Given the description of an element on the screen output the (x, y) to click on. 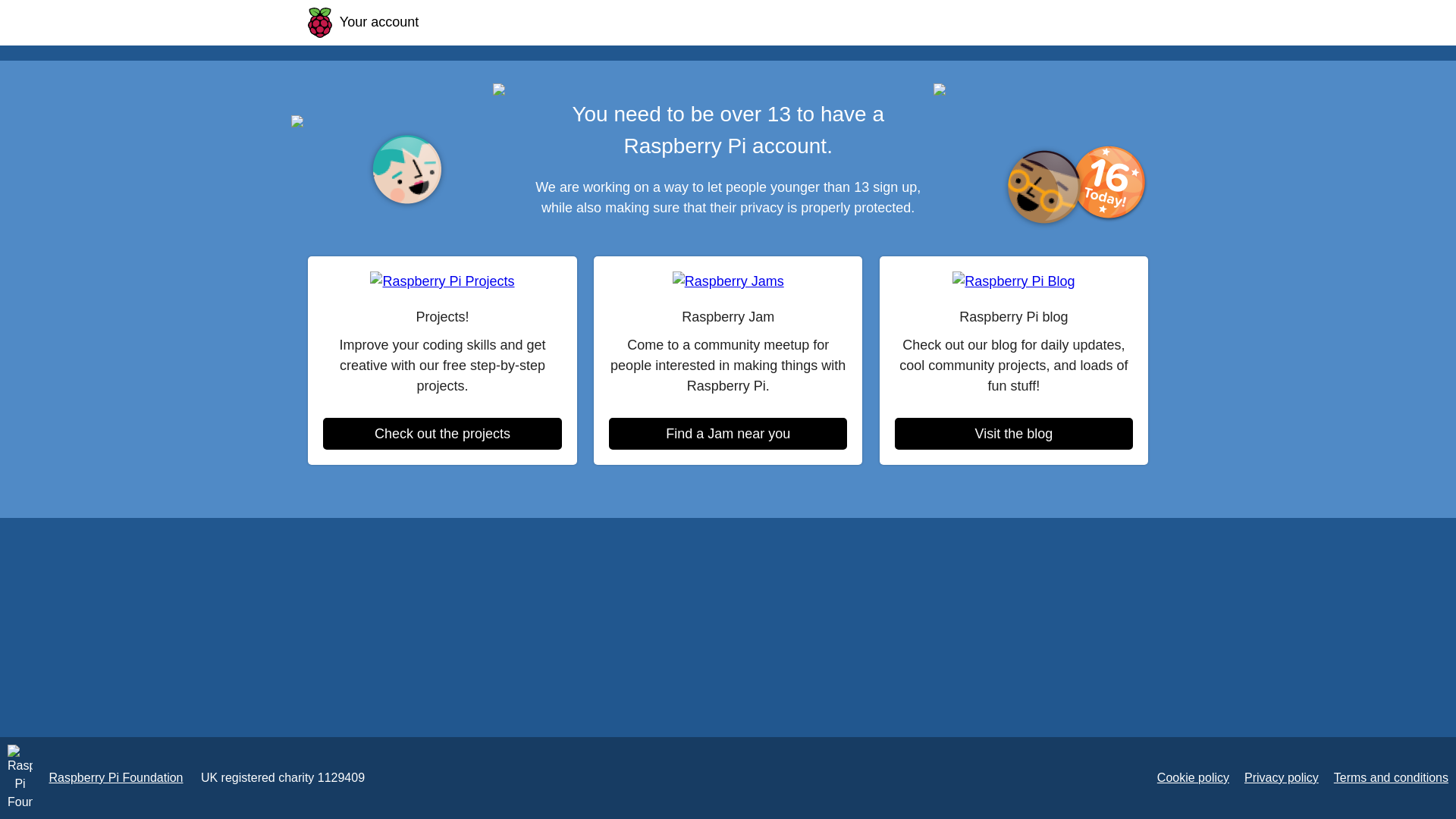
Raspberry Pi Foundation (115, 777)
Terms and conditions (1390, 777)
Cookie policy (1192, 777)
Check out the projects (441, 433)
Visit the blog (1013, 433)
Privacy policy (1281, 777)
Find a Jam near you (727, 433)
Your account (363, 21)
